Given the description of an element on the screen output the (x, y) to click on. 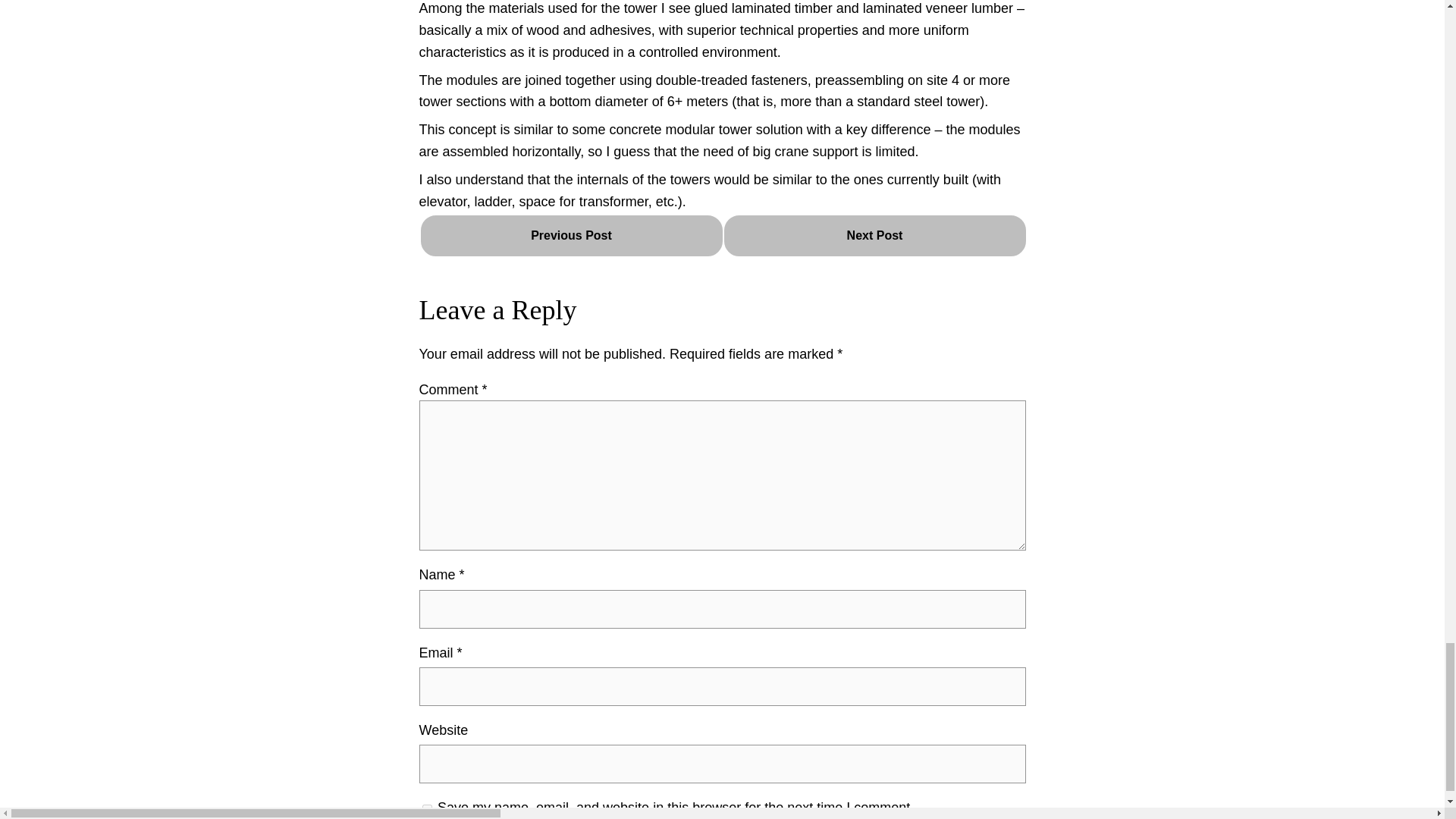
Next Post (874, 235)
Previous Post (571, 235)
The importance of the geophysical survey for a Wind Farm (874, 235)
Next Post (874, 235)
Previous Post (571, 235)
Printable 3D concrete wind turbine towers (571, 235)
